Given the description of an element on the screen output the (x, y) to click on. 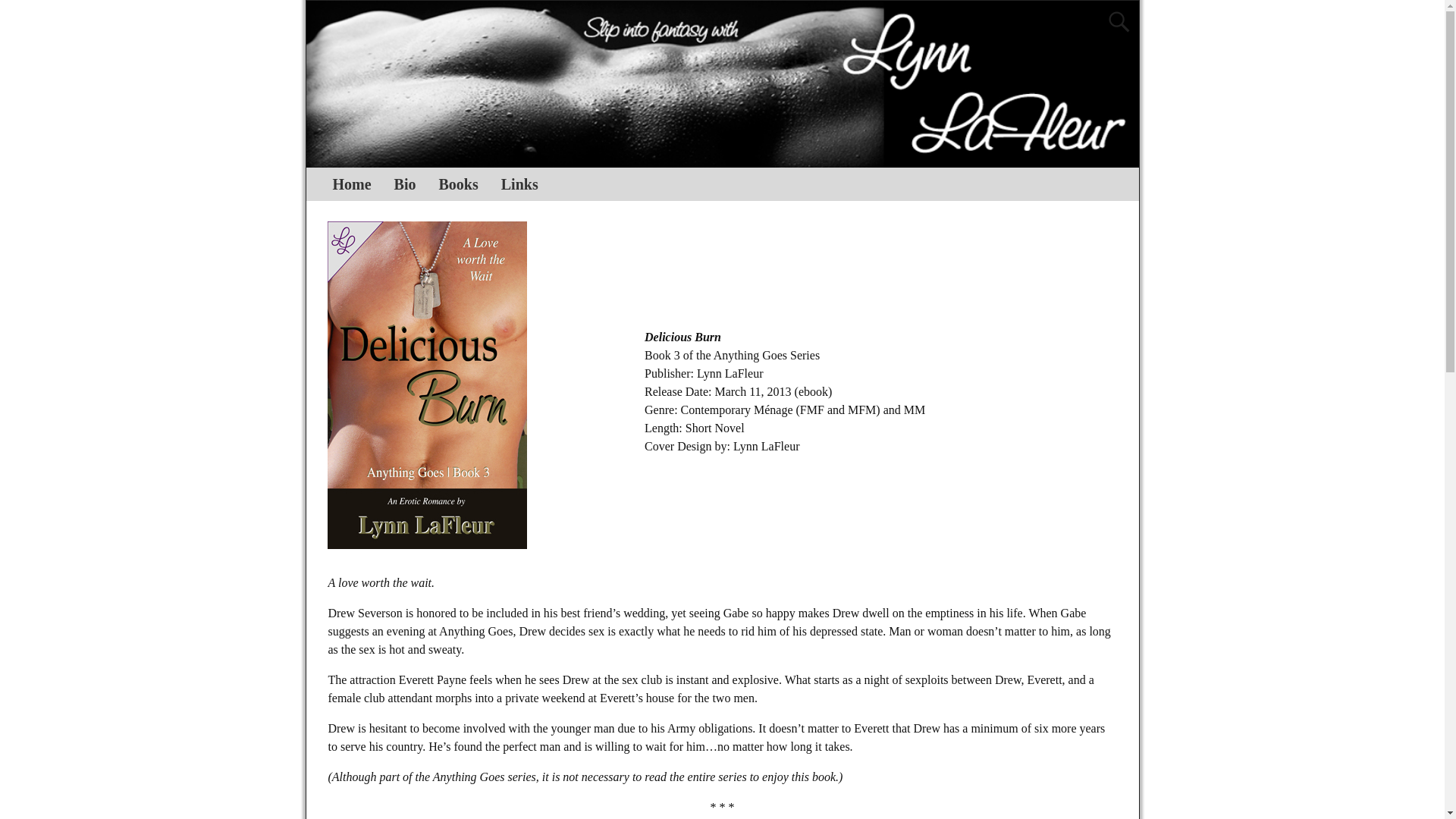
Home (351, 183)
Bio (405, 183)
Links (519, 183)
Books (458, 183)
Home (351, 183)
